Given the description of an element on the screen output the (x, y) to click on. 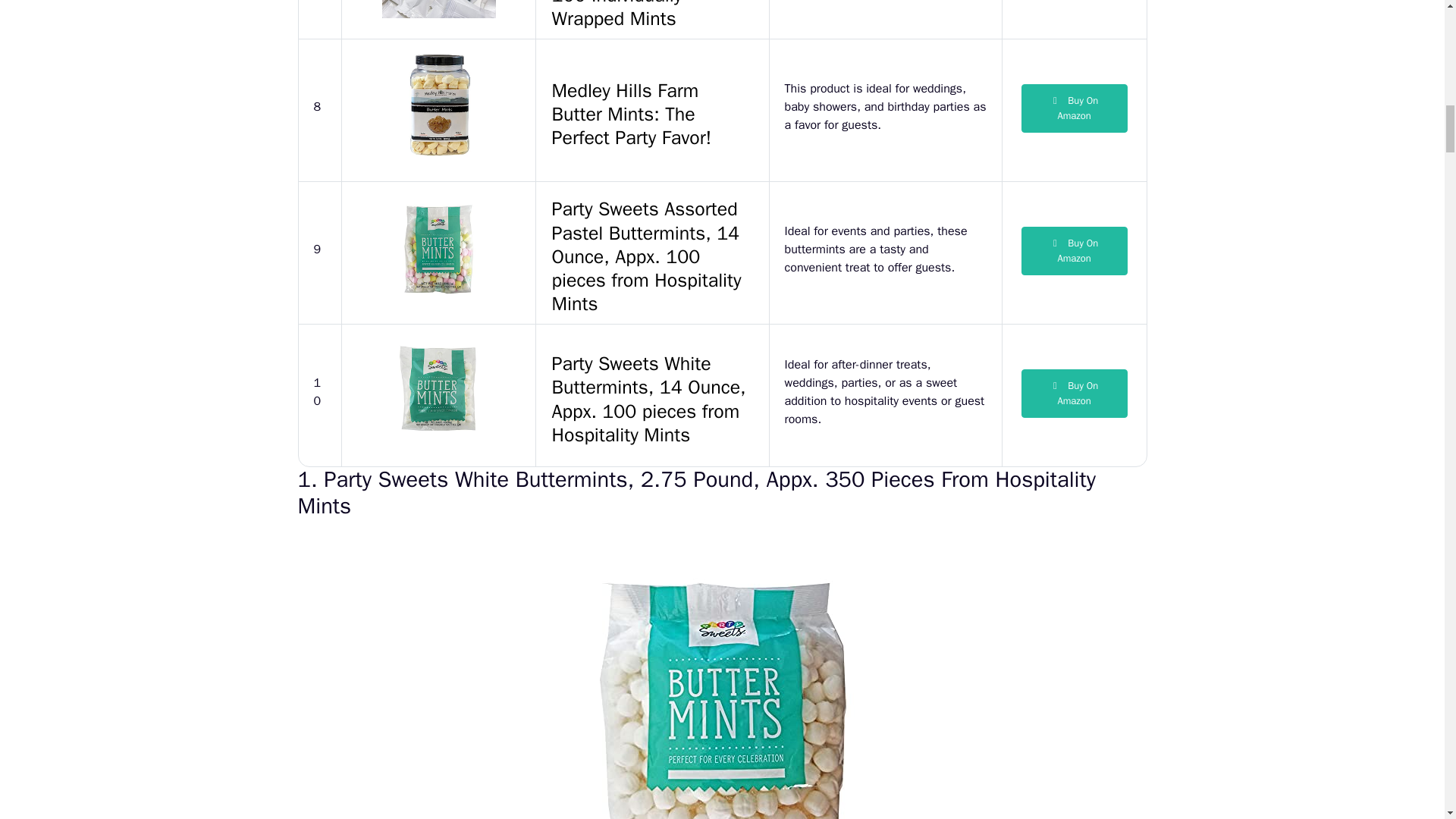
Check details from Amazon (1074, 108)
Medley Hills Farm Butter Mints: The Perfect Party Favor! (651, 110)
Buy On Amazon (1074, 108)
Check details from Amazon (1074, 393)
Buy On Amazon (1074, 250)
Check details from Amazon (1074, 250)
